Given the description of an element on the screen output the (x, y) to click on. 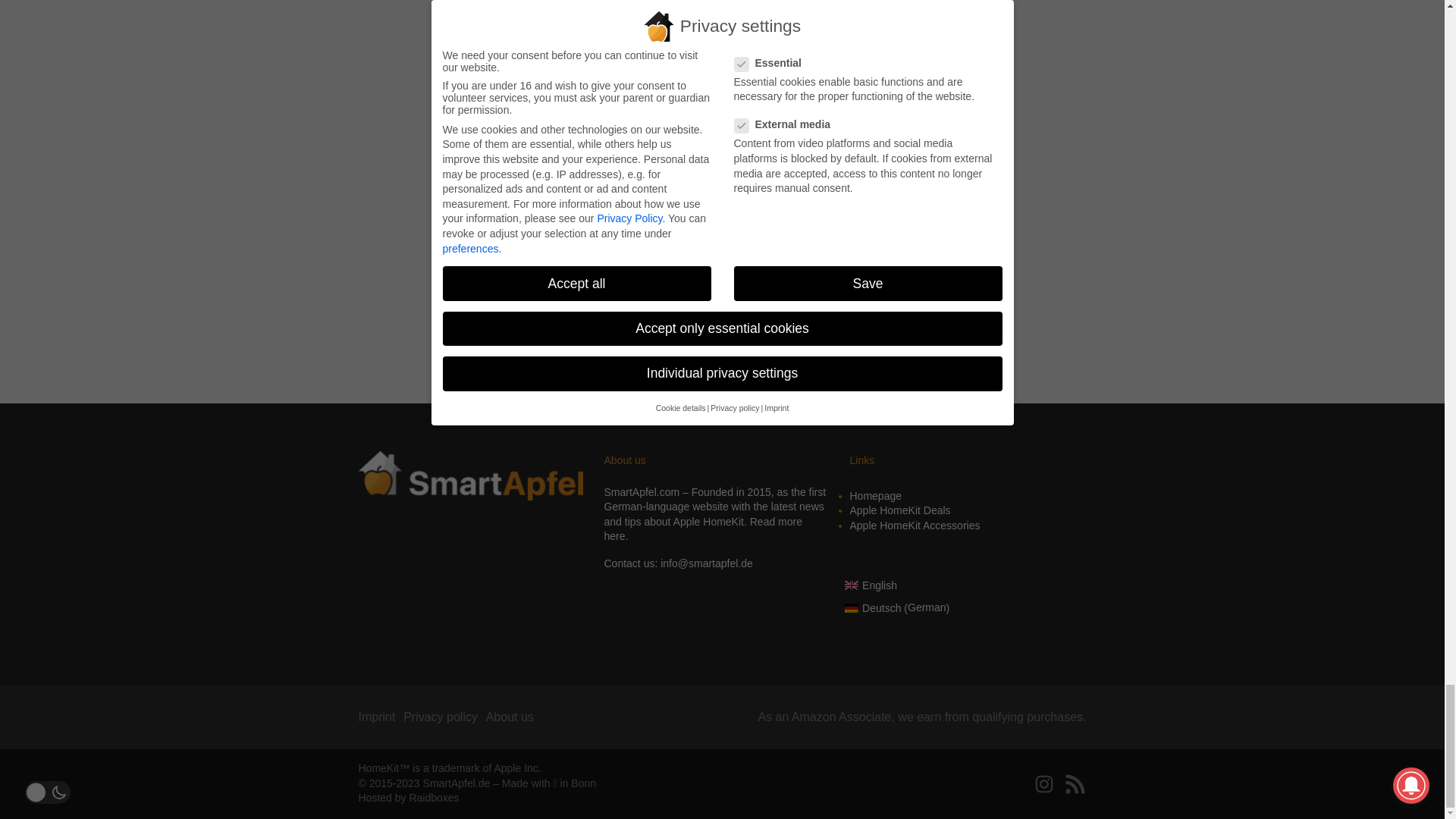
RSS Feed (1074, 784)
Privacy policy (440, 717)
Instagram (1043, 784)
English (897, 579)
Apple HomeKit Deals (899, 510)
Homepage (874, 495)
Post Comment (595, 353)
SmartApfel.com (641, 491)
Read more here. (703, 528)
Raidboxes (433, 797)
Apple HomeKit Accessories (913, 525)
Post Comment (595, 353)
About us (510, 717)
Imprint (376, 717)
